Given the description of an element on the screen output the (x, y) to click on. 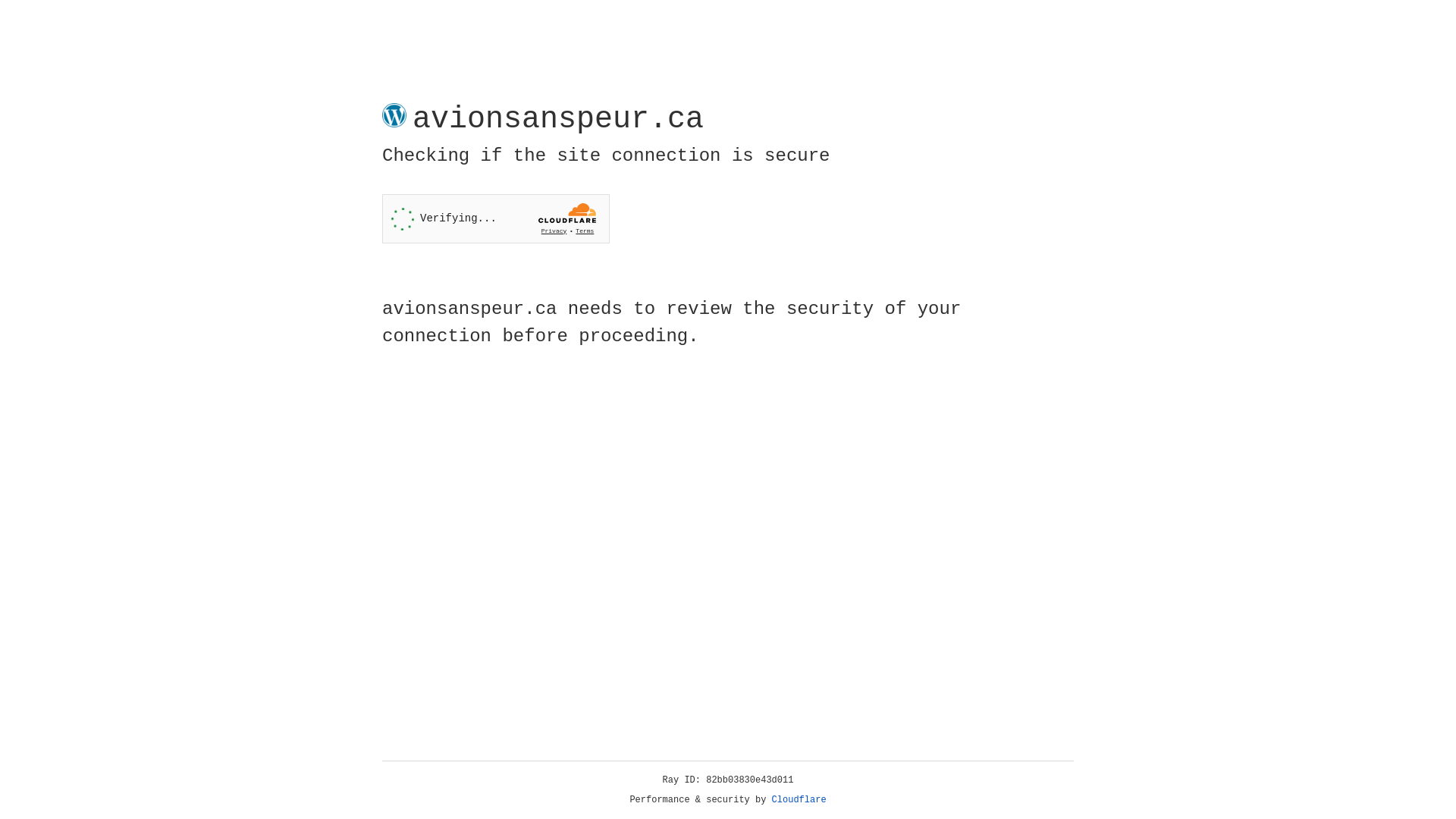
Widget containing a Cloudflare security challenge Element type: hover (495, 218)
Cloudflare Element type: text (798, 799)
